Given the description of an element on the screen output the (x, y) to click on. 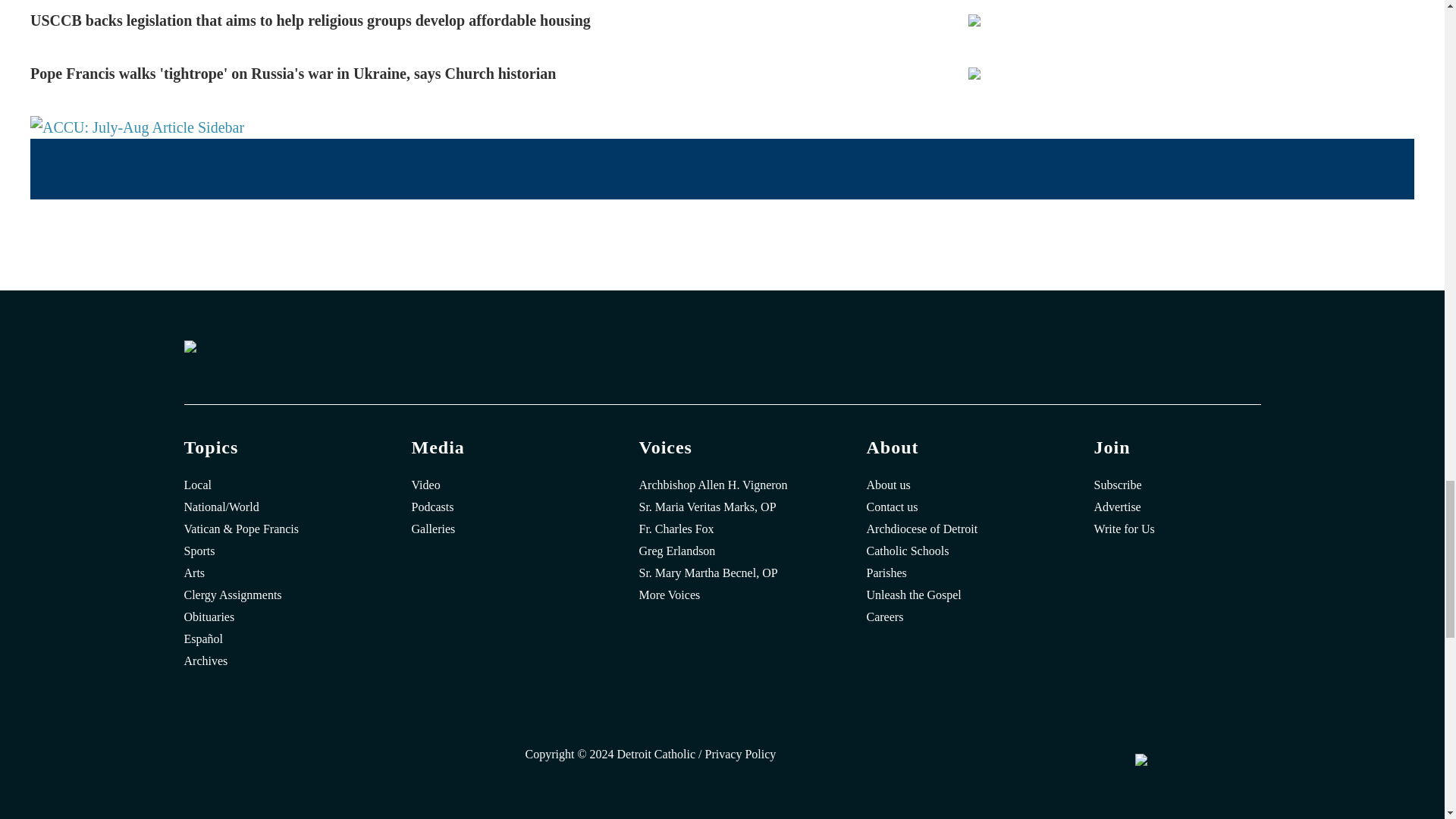
Fr. Charles Fox (722, 529)
ACCU: July-Aug Article Sidebar (137, 127)
Sr. Maria Veritas Marks, OP (722, 506)
Podcasts (494, 506)
Twitter (357, 757)
Video (494, 484)
Arts (266, 573)
Clergy Assignments (266, 595)
Instagram (403, 757)
Youtube (494, 757)
Obituaries (266, 617)
LinkedIn (448, 757)
Galleries (494, 529)
Facebook (312, 757)
Local (266, 484)
